Given the description of an element on the screen output the (x, y) to click on. 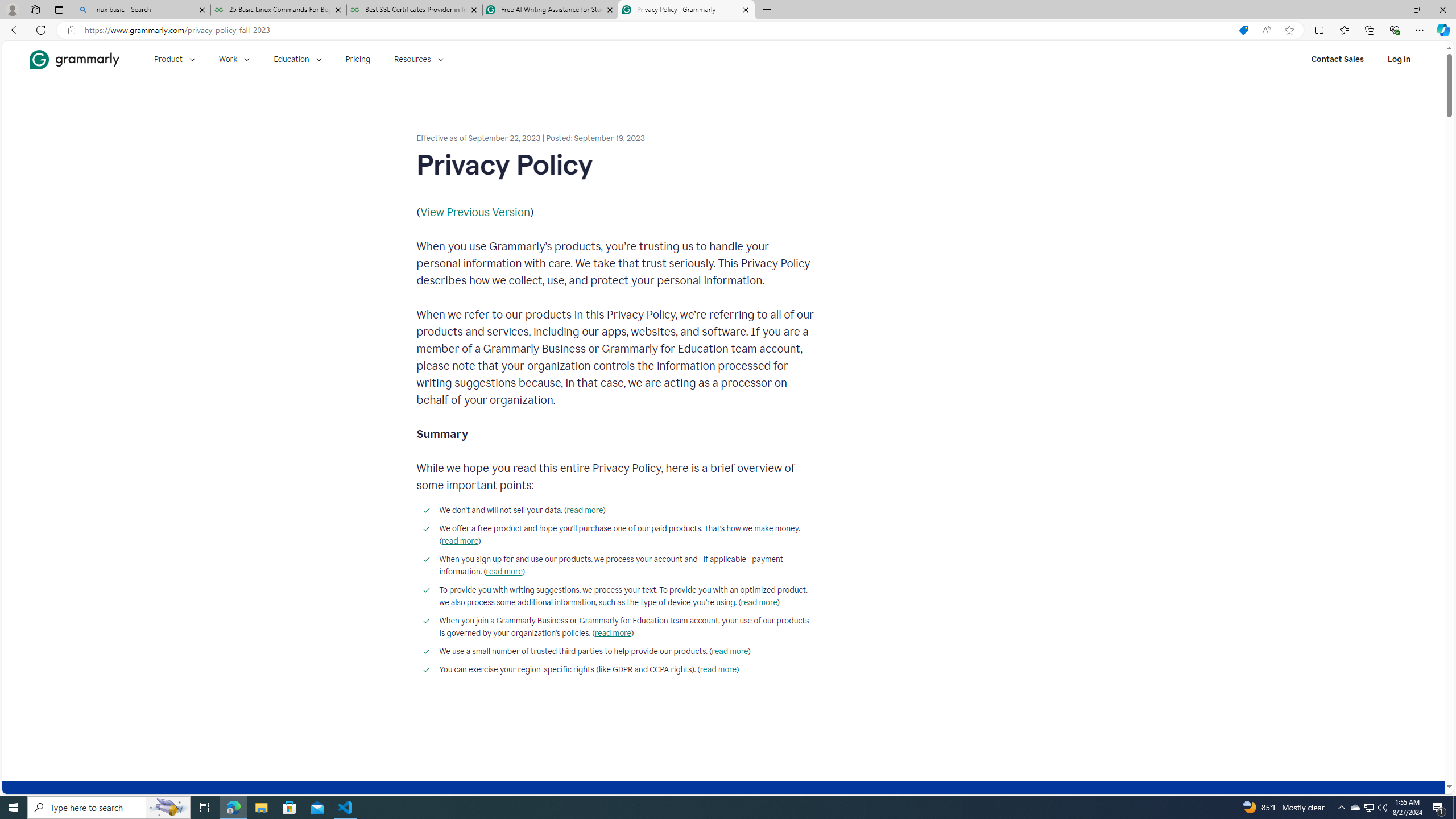
Resources (419, 58)
Best SSL Certificates Provider in India - GeeksforGeeks (414, 9)
Log in (1399, 58)
Grammarly Home (74, 59)
Privacy Policy | Grammarly (685, 9)
25 Basic Linux Commands For Beginners - GeeksforGeeks (277, 9)
read more (717, 669)
Work (234, 58)
Grammarly Home (74, 59)
Resources (419, 58)
